Given the description of an element on the screen output the (x, y) to click on. 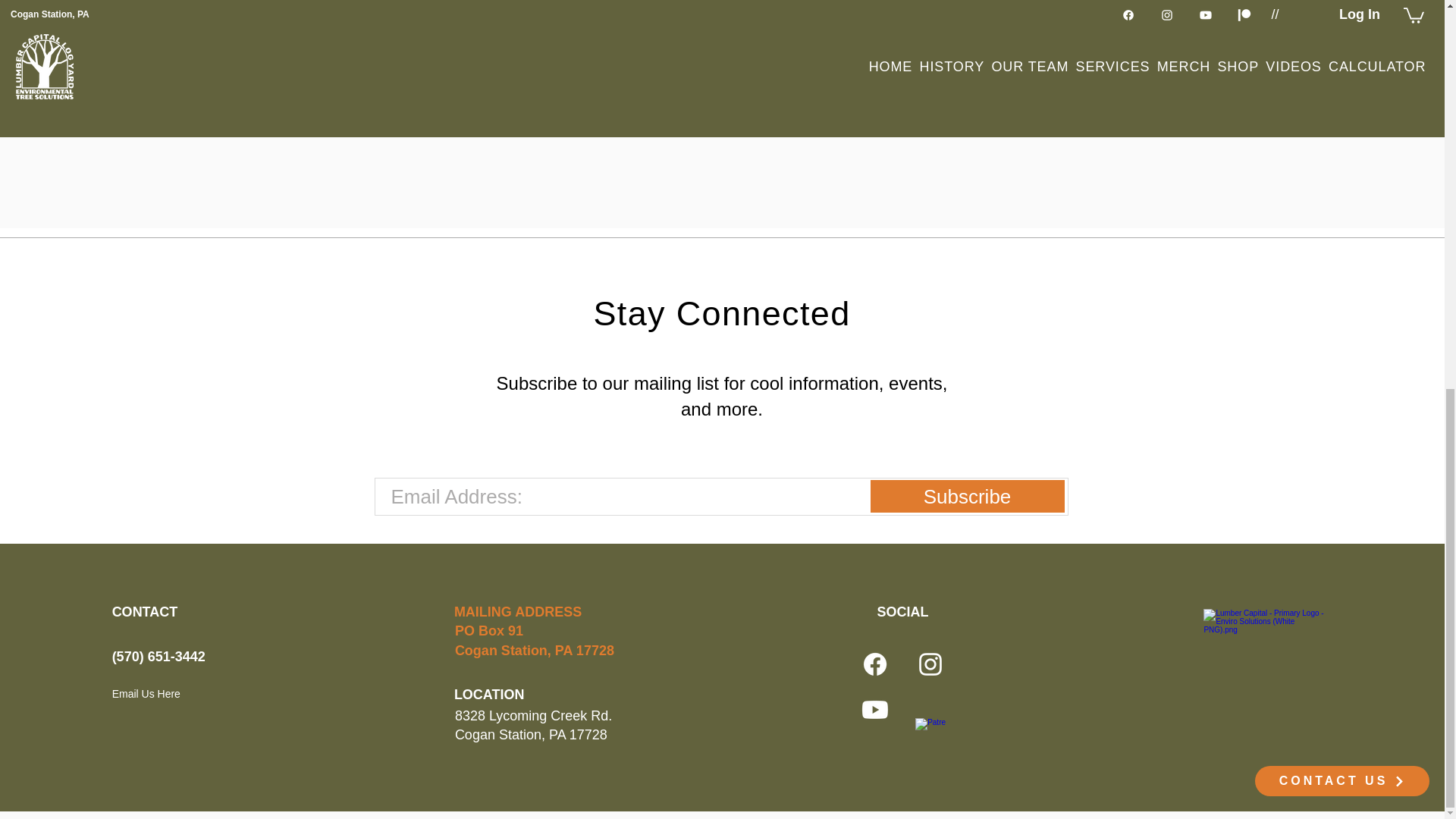
Email Us Here (179, 693)
Subscribe (967, 495)
CONTACT US (1342, 41)
